Given the description of an element on the screen output the (x, y) to click on. 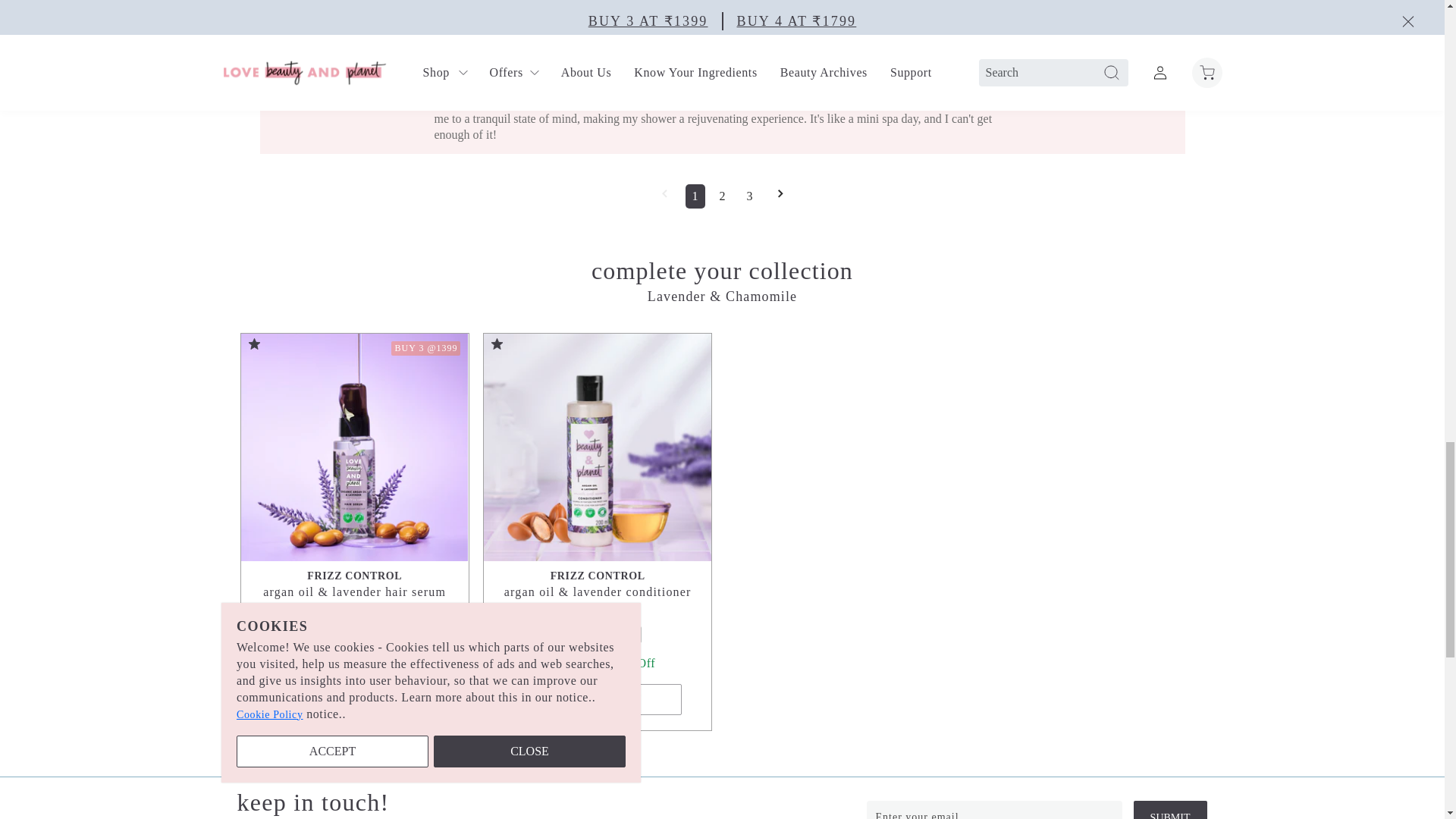
Kaushika N. (339, 0)
Bhavana C. (340, 85)
